Given the description of an element on the screen output the (x, y) to click on. 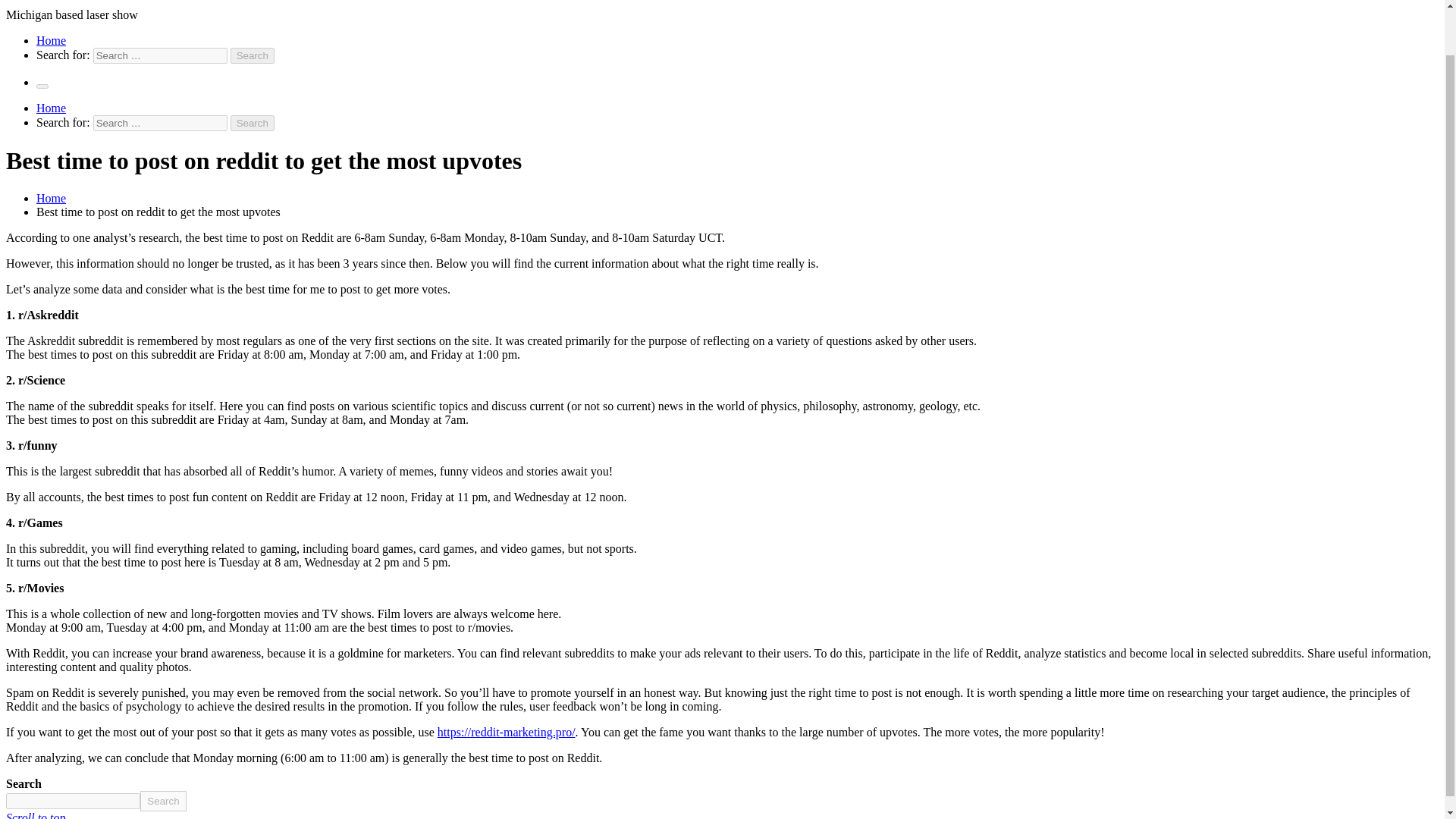
Search (252, 55)
Search (162, 801)
Home (50, 40)
Search (252, 123)
Search (252, 123)
Home (50, 107)
Search (252, 123)
Search (252, 55)
Search (252, 55)
Home (50, 197)
